Given the description of an element on the screen output the (x, y) to click on. 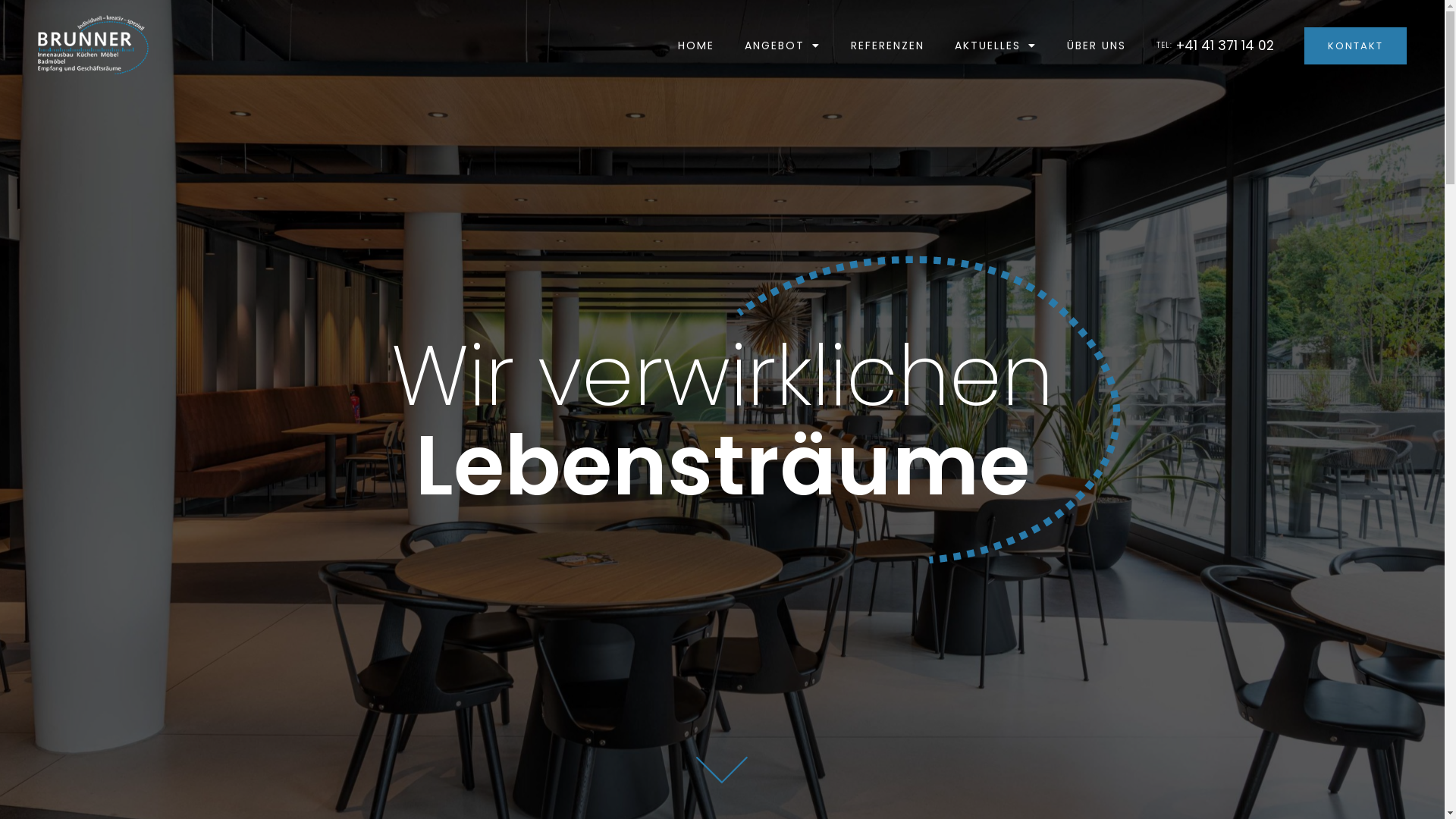
+41 41 371 14 02 Element type: text (1225, 45)
REFERENZEN Element type: text (887, 45)
HOME Element type: text (695, 45)
KONTAKT Element type: text (1355, 45)
AKTUELLES Element type: text (995, 45)
ANGEBOT Element type: text (782, 45)
